Given the description of an element on the screen output the (x, y) to click on. 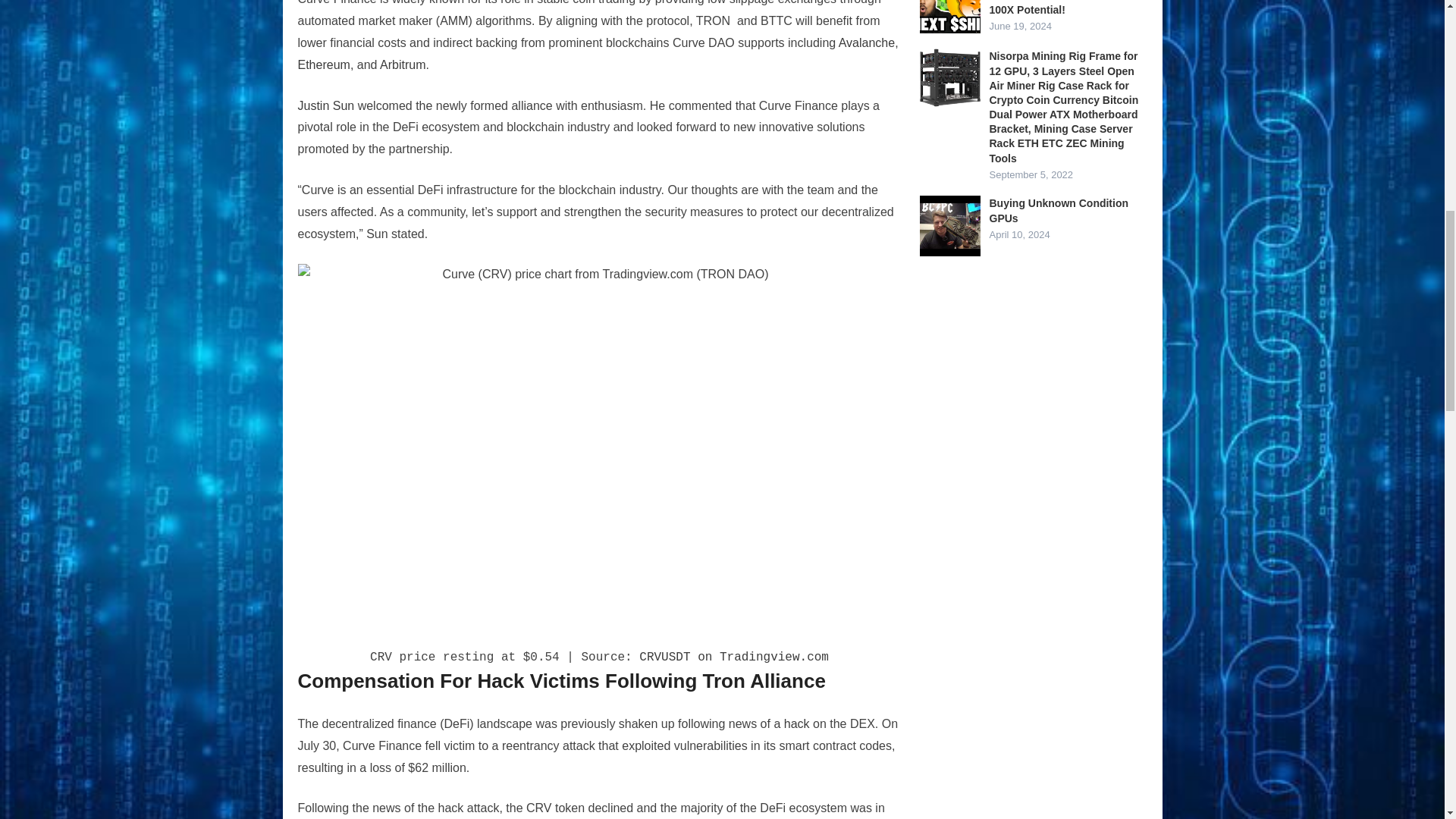
Arbitrum (402, 64)
hack (796, 723)
Avalanche (866, 42)
CRVUSDT on Tradingview.com (733, 657)
Justin Sun (325, 105)
Ethereum (323, 64)
